Given the description of an element on the screen output the (x, y) to click on. 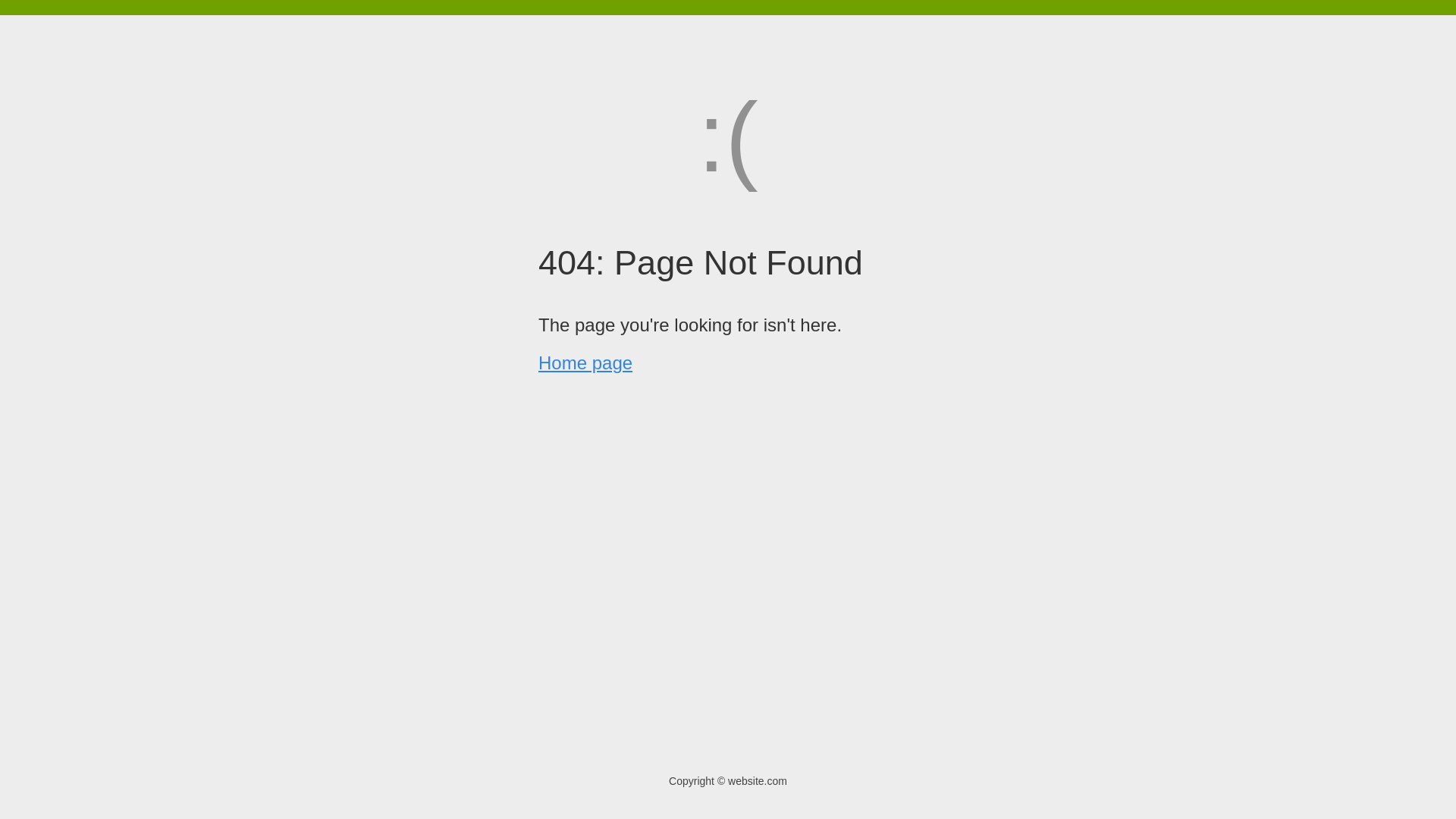
Home page Element type: text (585, 362)
